Given the description of an element on the screen output the (x, y) to click on. 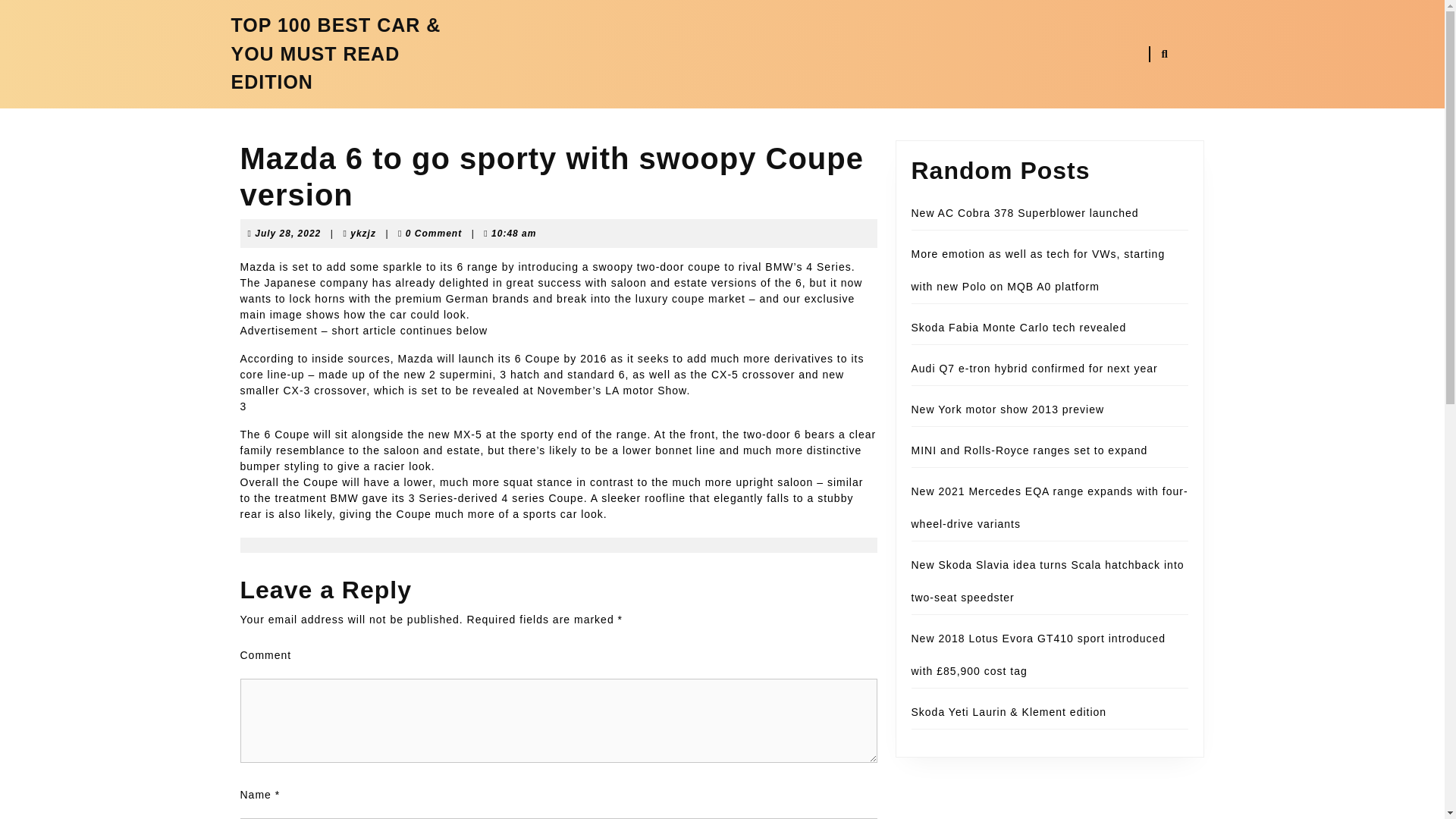
New York motor show 2013 preview (1008, 409)
MINI and Rolls-Royce ranges set to expand (1029, 450)
New AC Cobra 378 Superblower launched (287, 232)
Skoda Fabia Monte Carlo tech revealed (1024, 213)
Audi Q7 e-tron hybrid confirmed for next year (1018, 327)
